Given the description of an element on the screen output the (x, y) to click on. 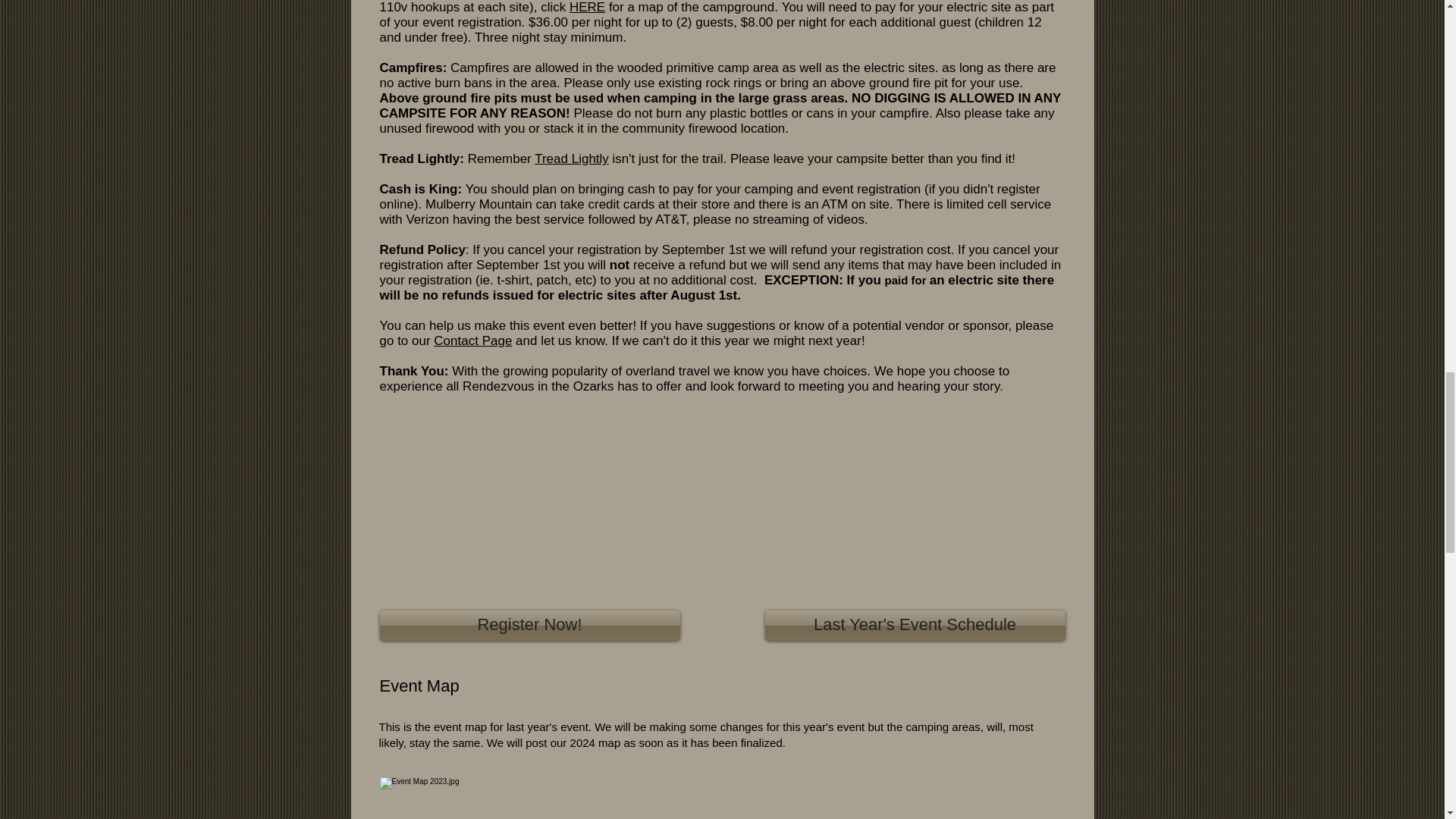
Register Now! (528, 625)
HERE (587, 7)
Tread Lightly (571, 158)
Last Year's Event Schedule (914, 625)
